Given the description of an element on the screen output the (x, y) to click on. 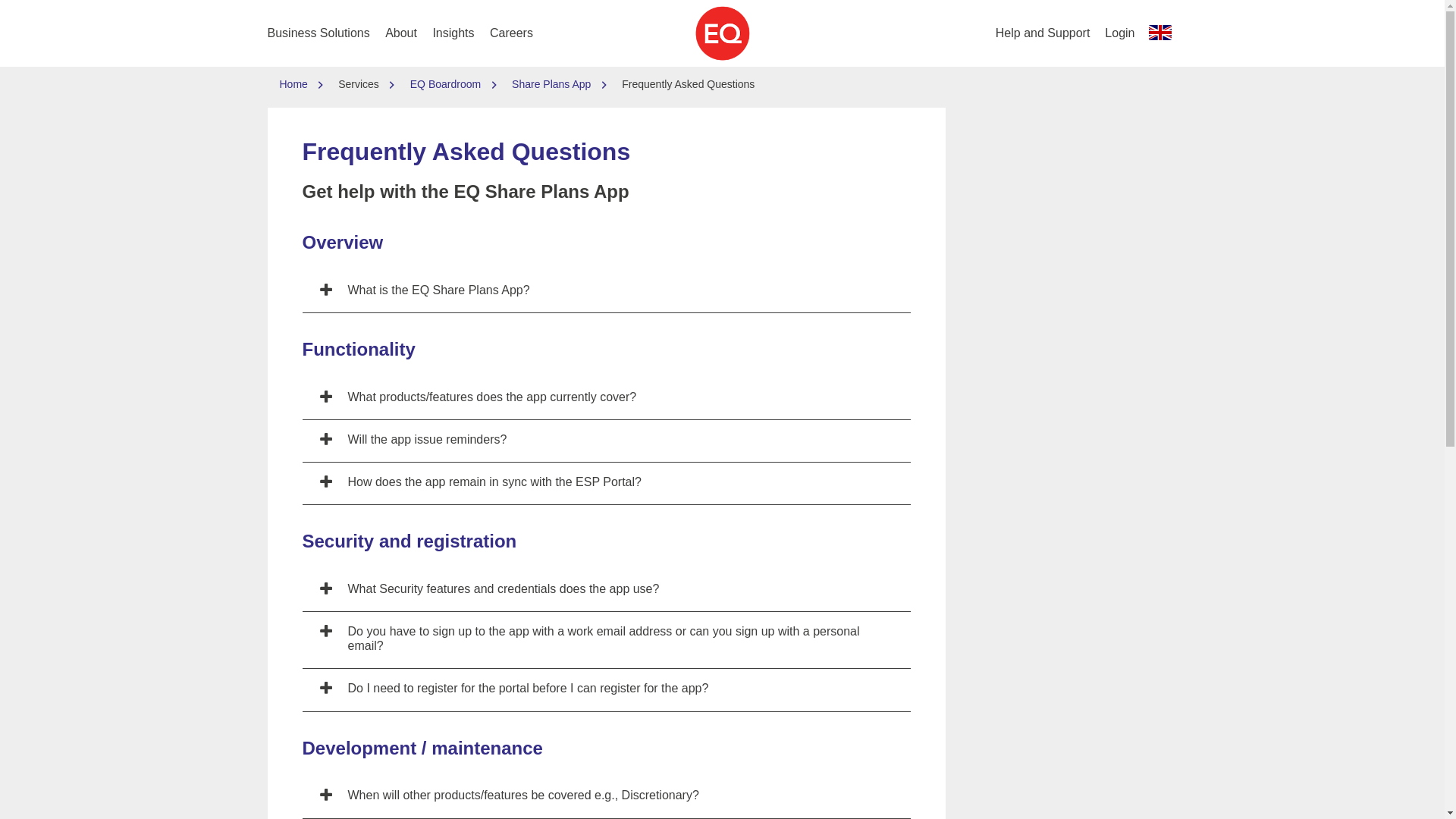
Help and Support (1042, 33)
Business Solutions (317, 33)
